Given the description of an element on the screen output the (x, y) to click on. 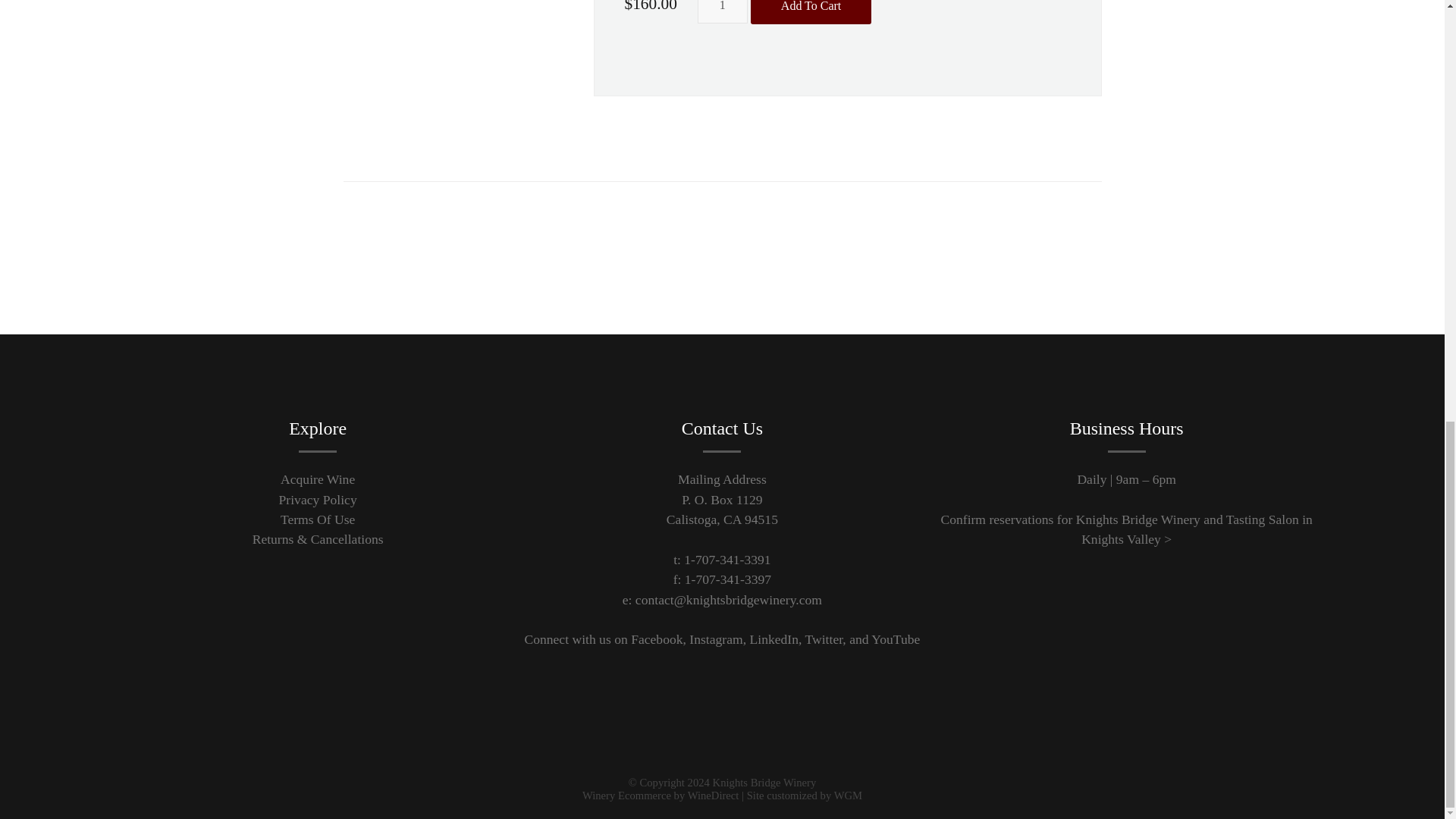
Acquire Wine (318, 478)
Terms Of Use (318, 519)
Privacy Policy (317, 499)
Add To Cart (810, 12)
1 (722, 11)
